Given the description of an element on the screen output the (x, y) to click on. 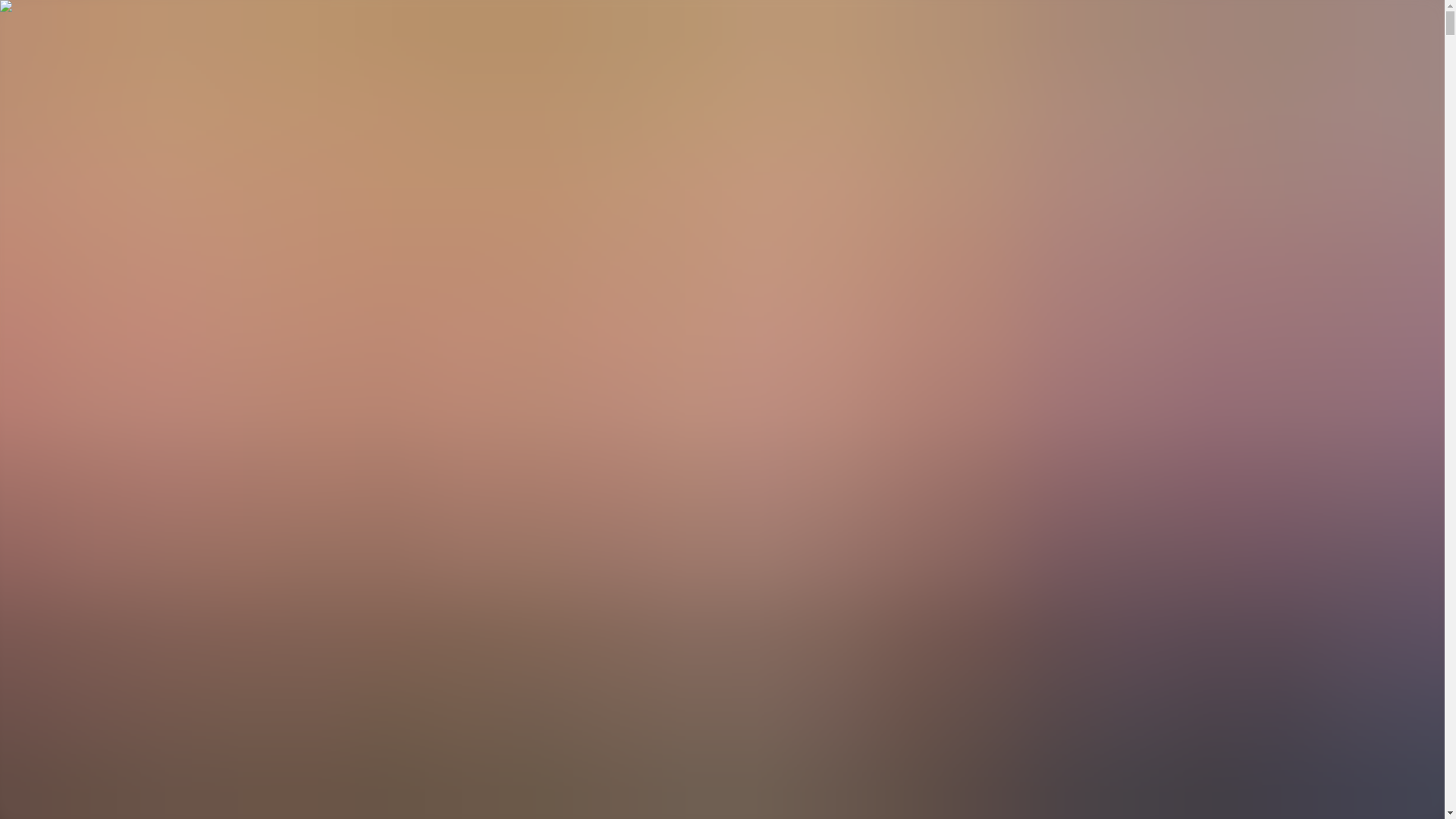
VEO-CAP4U (69, 95)
MIMO series (68, 109)
VIDA (51, 82)
WPNETTOUCH (77, 123)
Configure PLAYER ONE events (116, 177)
WiSpeak GLOBE (79, 136)
EclerNet (58, 150)
User Control Panels (84, 164)
MIMO88 (59, 191)
